Given the description of an element on the screen output the (x, y) to click on. 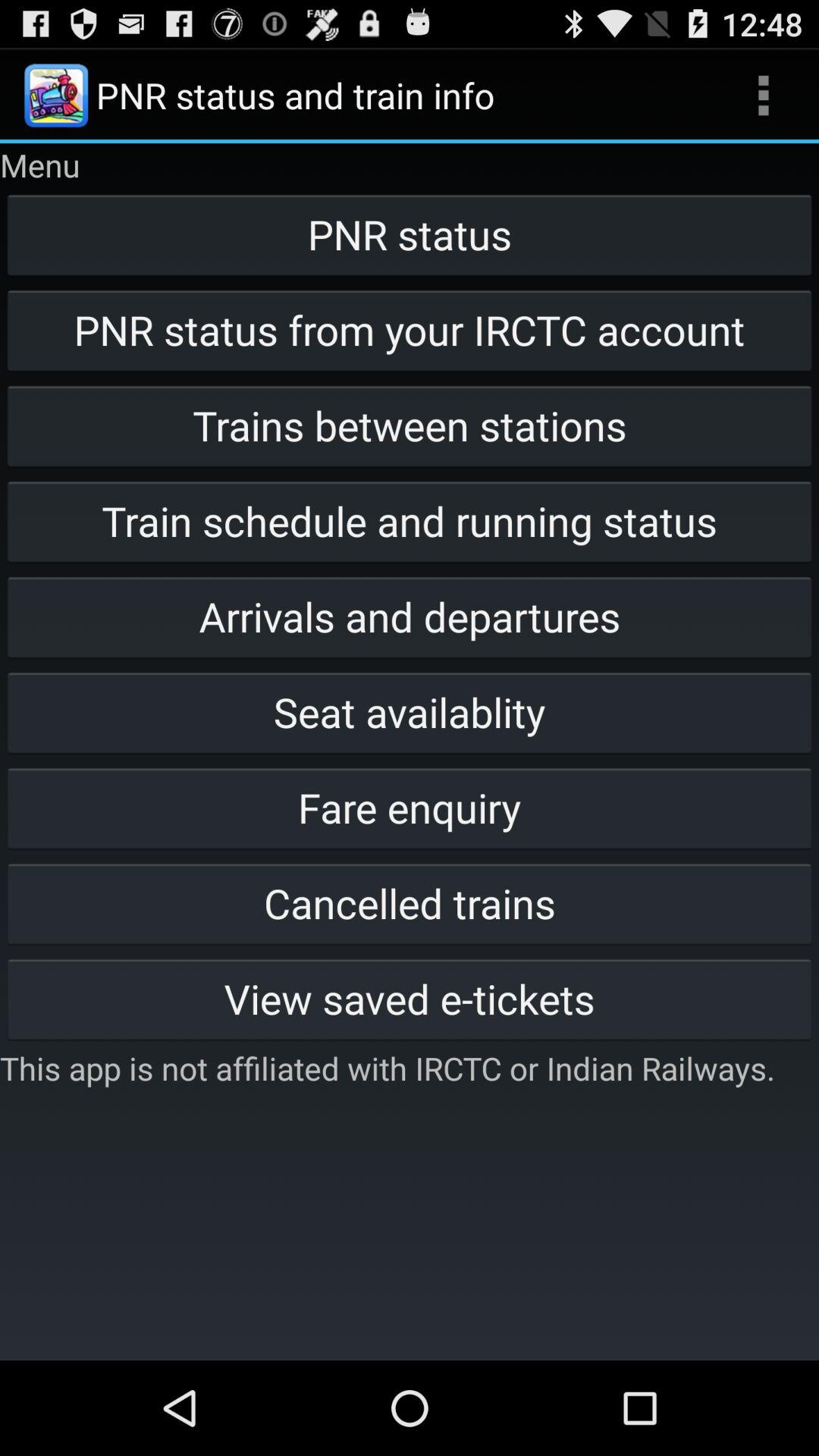
choose icon above the view saved e item (409, 902)
